Given the description of an element on the screen output the (x, y) to click on. 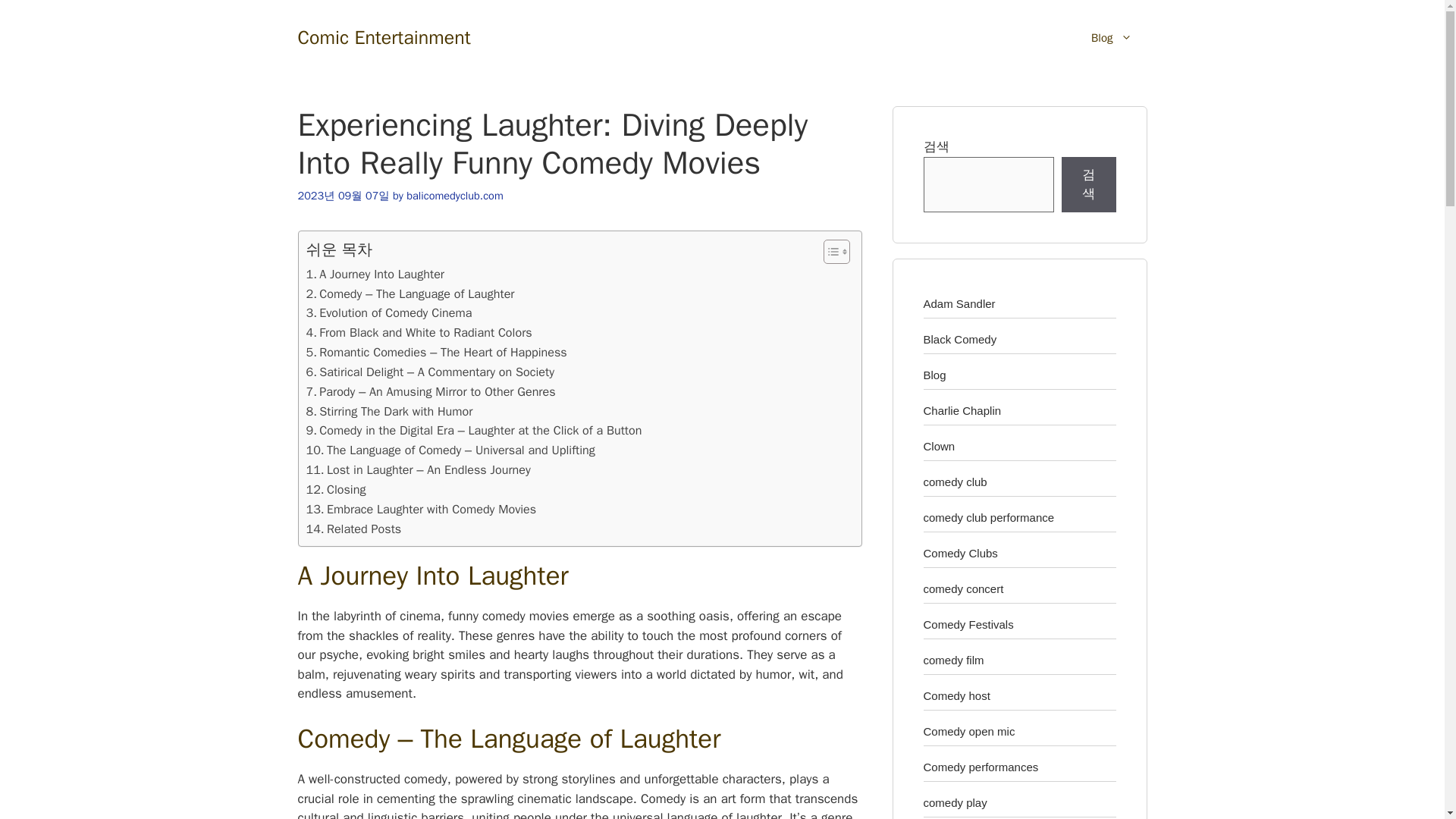
Embrace Laughter with Comedy Movies (421, 509)
From Black and White to Radiant Colors (418, 332)
Related Posts (353, 528)
View all posts by balicomedyclub.com (454, 195)
comedy club (955, 481)
Blog (934, 374)
Evolution of Comedy Cinema (388, 312)
Stirring The Dark with Humor (389, 411)
Comic Entertainment (383, 37)
Charlie Chaplin (962, 409)
From Black and White to Radiant Colors (418, 332)
A Journey Into Laughter (374, 274)
Adam Sandler (959, 303)
Embrace Laughter with Comedy Movies (421, 509)
Blog (1111, 37)
